Given the description of an element on the screen output the (x, y) to click on. 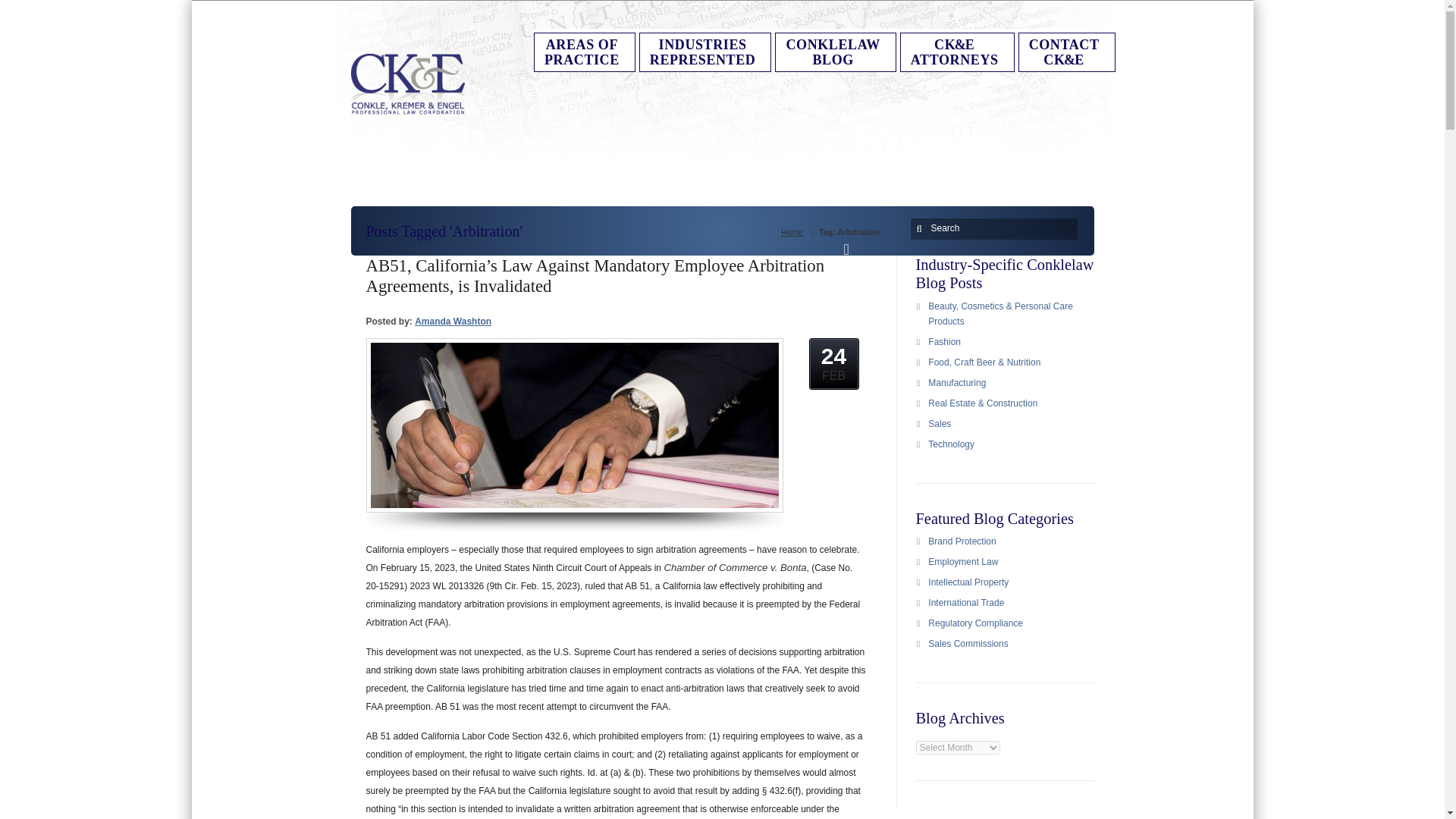
Posts by Amanda Washton (453, 321)
Search (702, 51)
